Given the description of an element on the screen output the (x, y) to click on. 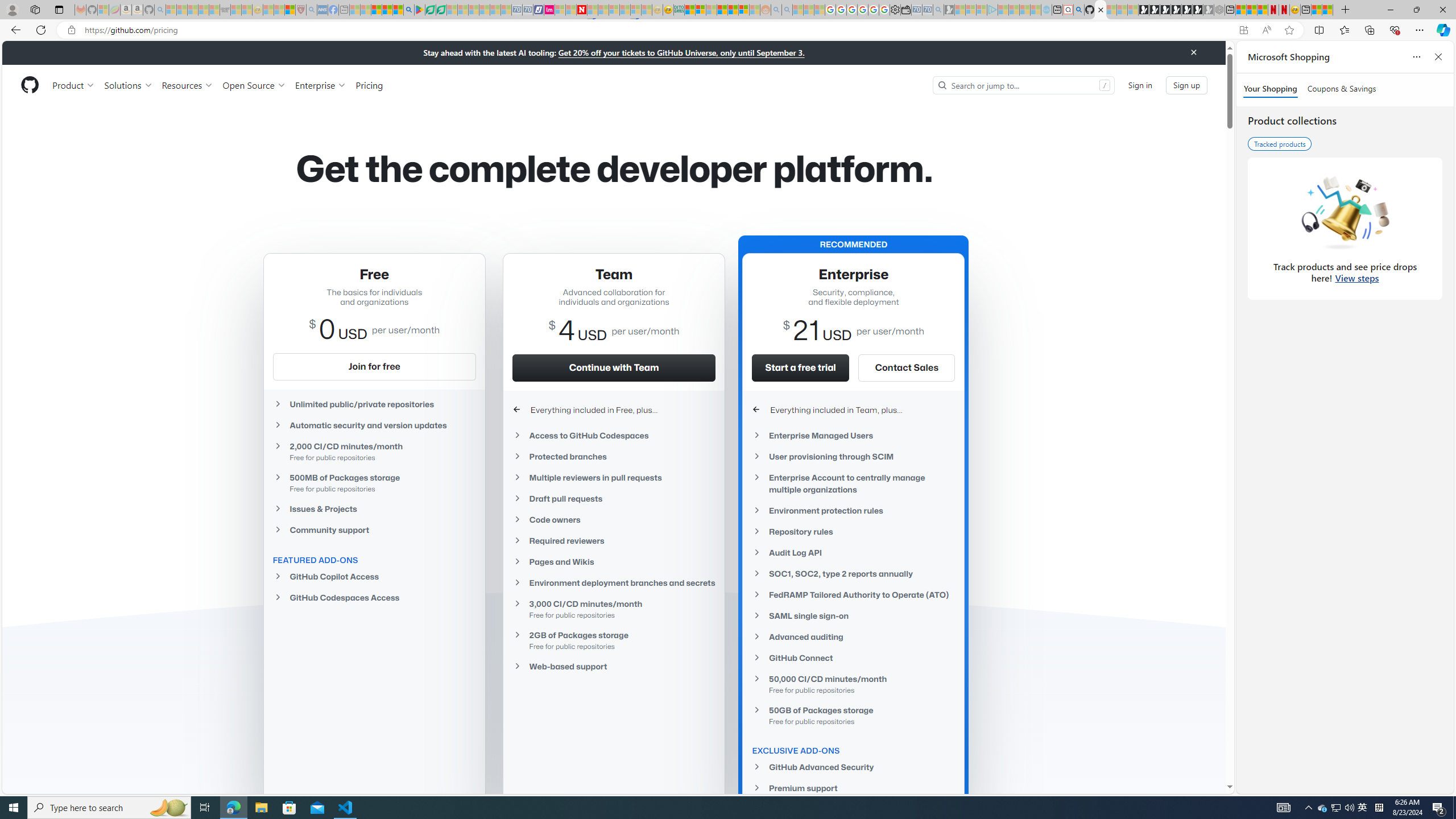
Access to GitHub Codespaces (614, 435)
Jobs - lastminute.com Investor Portal (548, 9)
Advanced auditing (853, 636)
Product (74, 84)
Continue with Team (614, 367)
Resources (187, 84)
GitHub Advanced Security (853, 767)
GitHub Connect (853, 658)
